Given the description of an element on the screen output the (x, y) to click on. 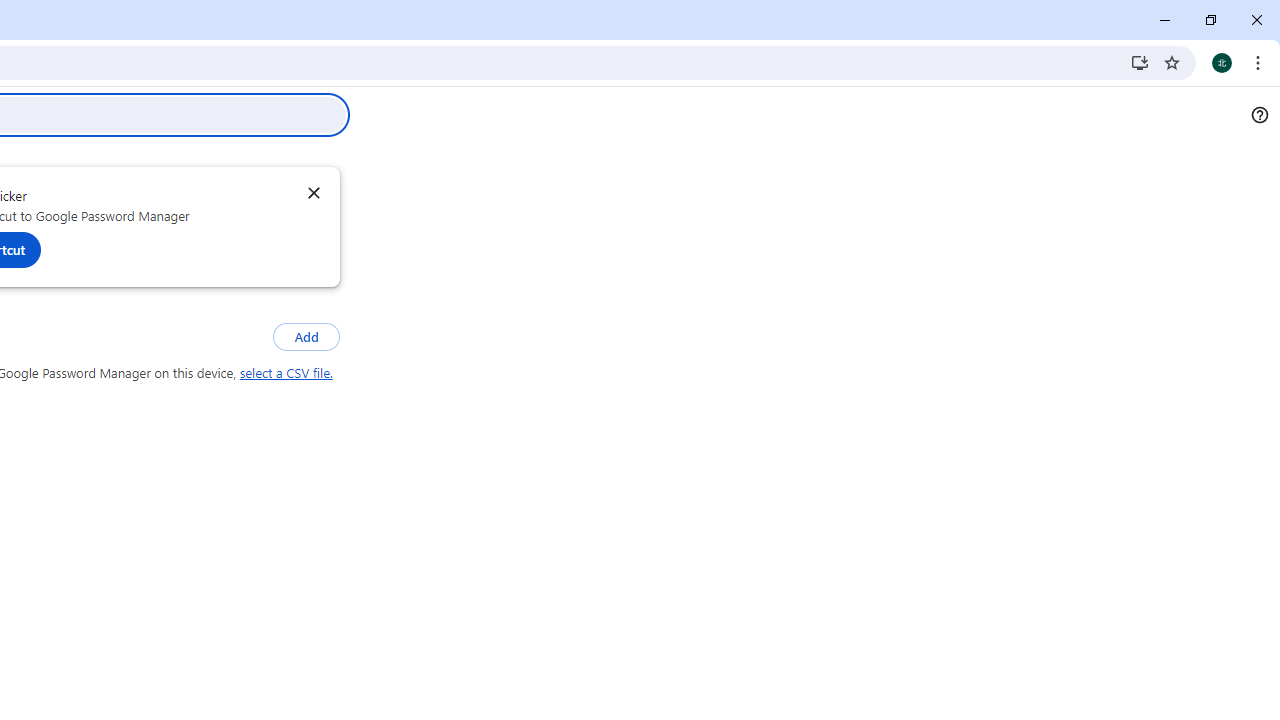
Dismiss recommendation (313, 192)
Help (1259, 115)
select a CSV file. (285, 373)
Install Google Password Manager (1139, 62)
Add (306, 337)
